Given the description of an element on the screen output the (x, y) to click on. 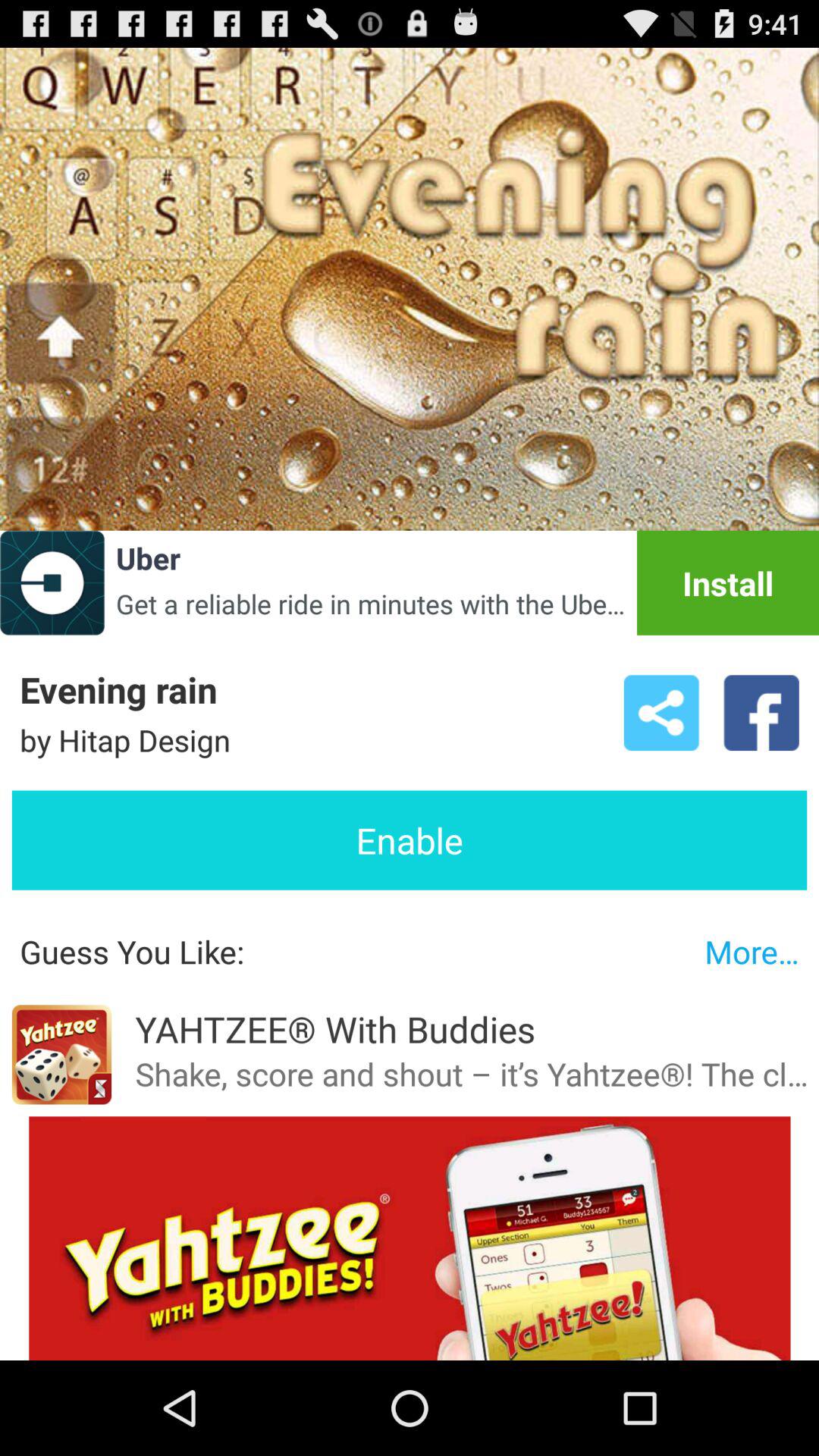
open enable (409, 840)
